Given the description of an element on the screen output the (x, y) to click on. 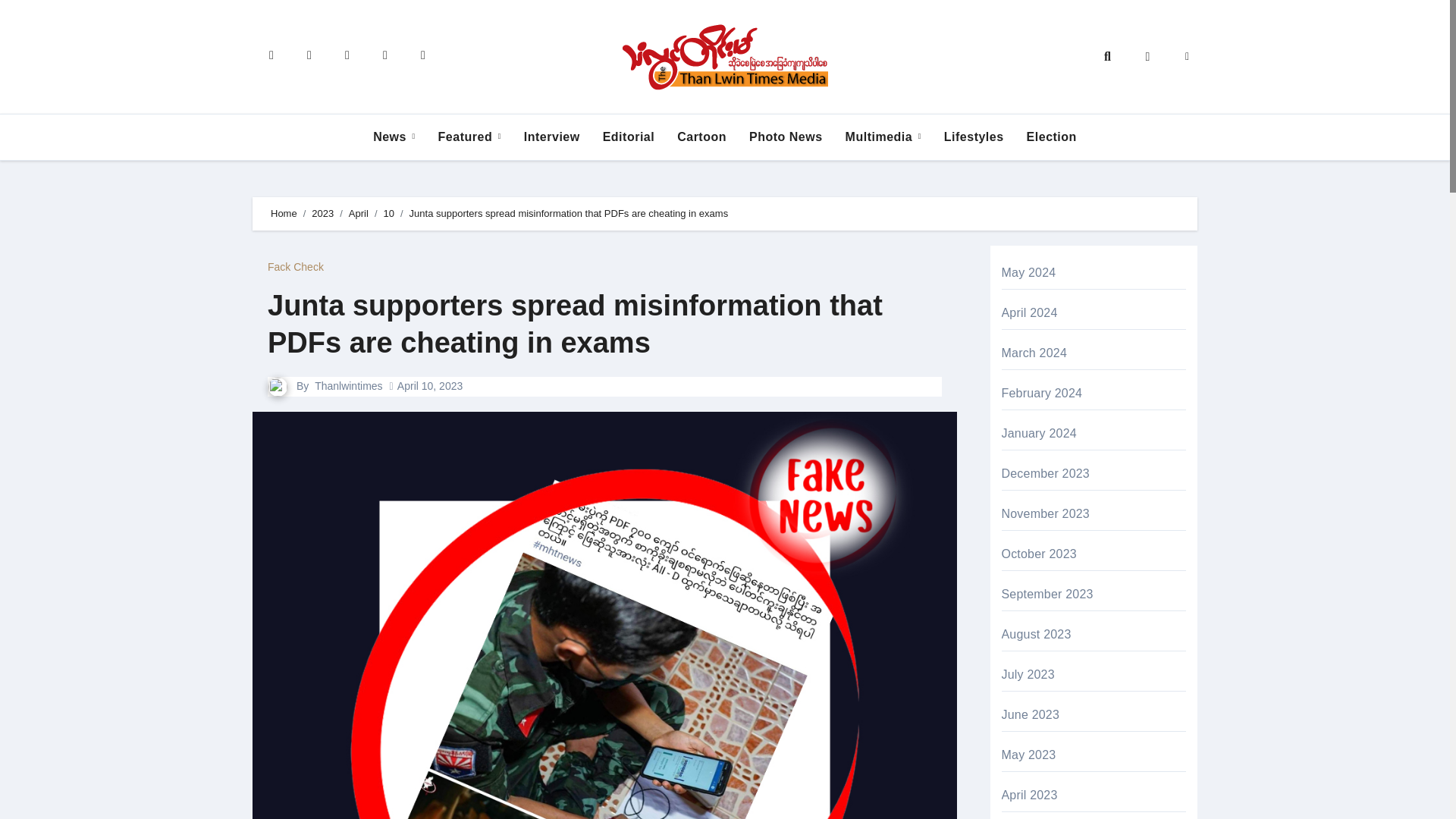
Election (1050, 136)
Interview (551, 136)
Editorial (628, 136)
2023 (322, 213)
April (358, 213)
Featured (469, 136)
News (393, 136)
Editorial (628, 136)
Featured (469, 136)
